Given the description of an element on the screen output the (x, y) to click on. 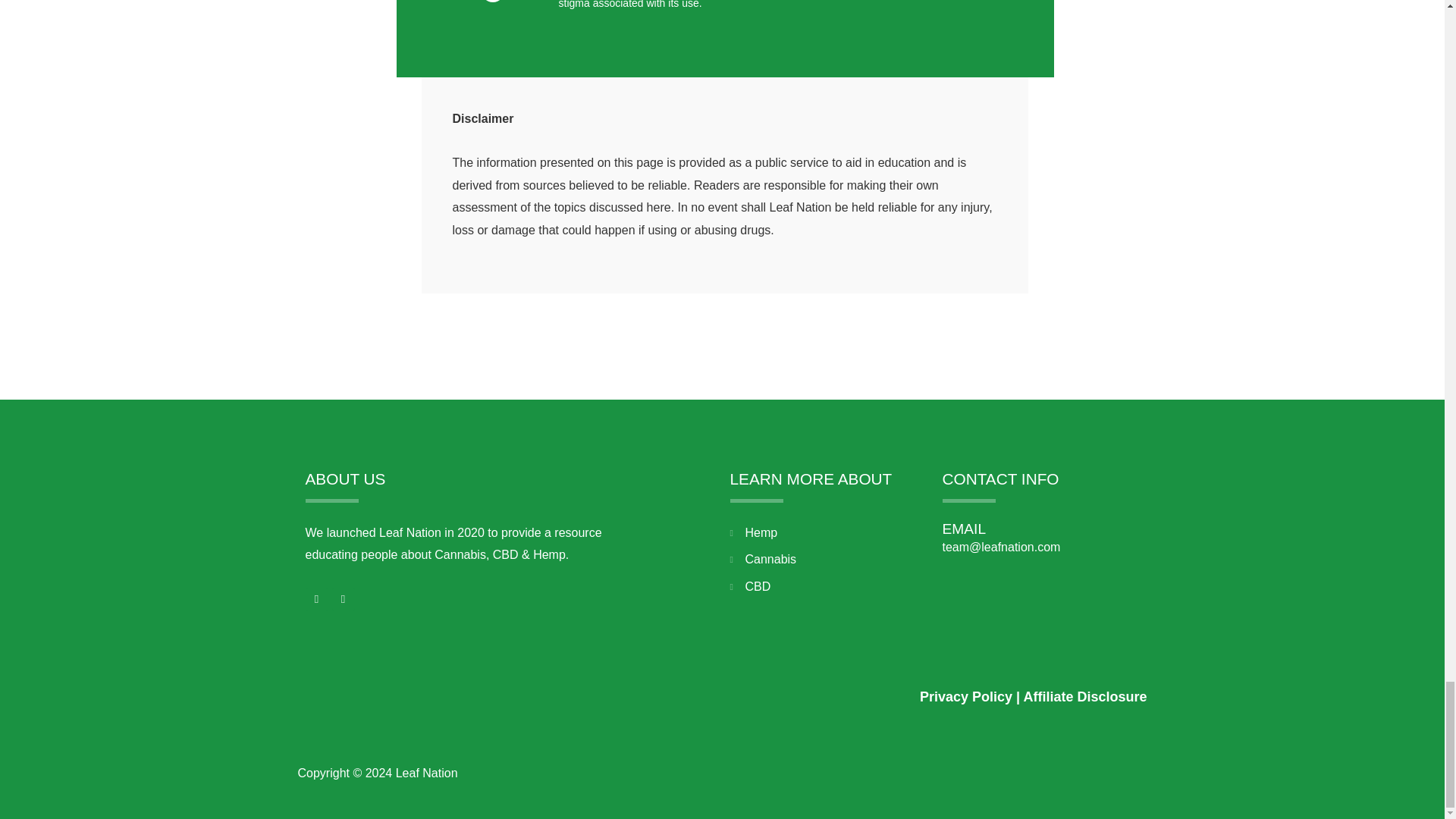
Hemp (827, 532)
CBD (827, 586)
leafnation-light-logo-final (410, 689)
Affiliate Disclosure (1085, 696)
Privacy Policy (965, 696)
Cannabis (827, 558)
